Given the description of an element on the screen output the (x, y) to click on. 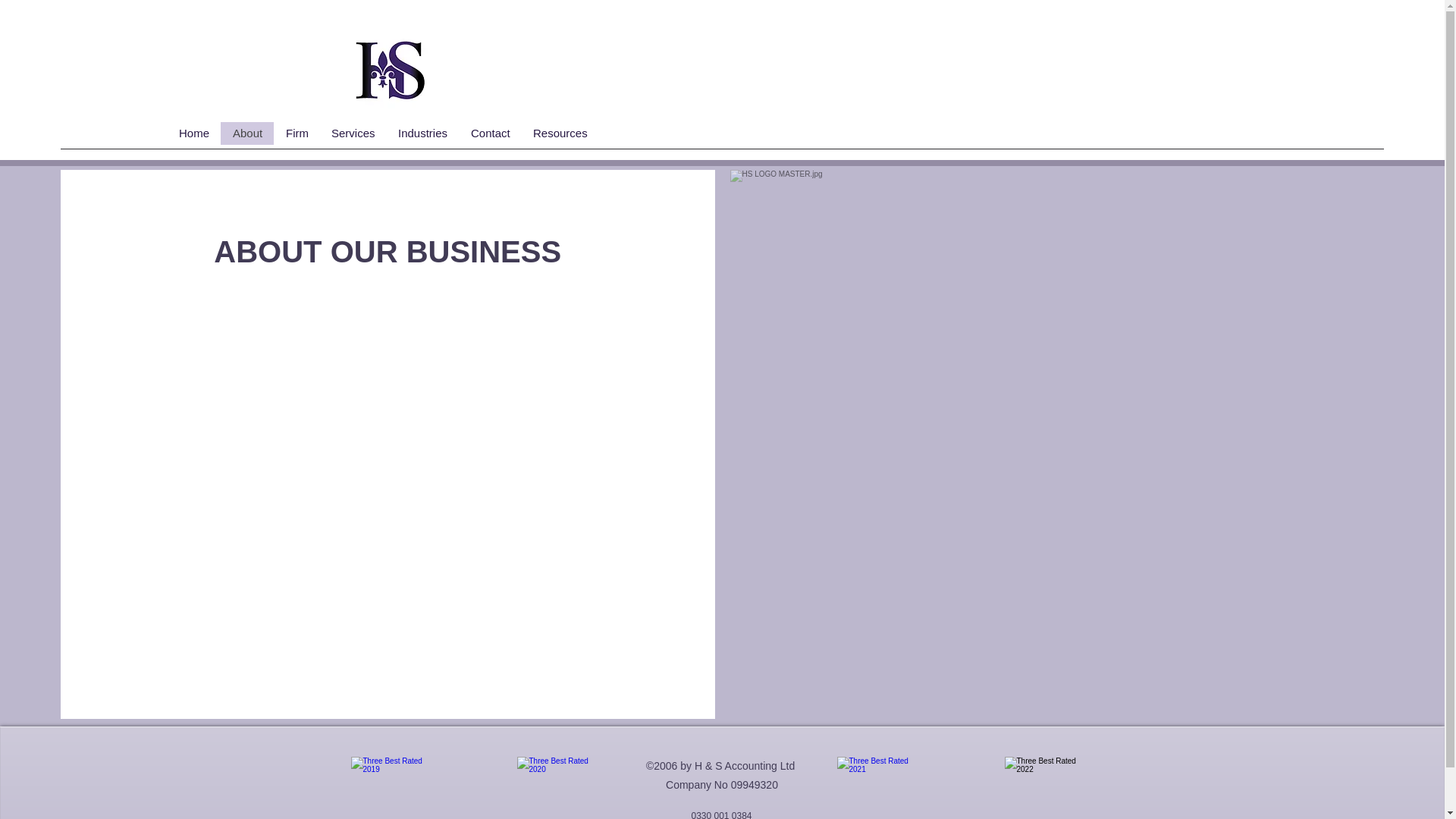
Resources (559, 133)
threebestrated2021badge.png (881, 787)
Badge 2020.png (561, 787)
TBRBadgetransbackground.png (394, 787)
Contact (489, 133)
Services (351, 133)
About (247, 133)
Industries (421, 133)
Firm (295, 133)
Home (194, 133)
